Given the description of an element on the screen output the (x, y) to click on. 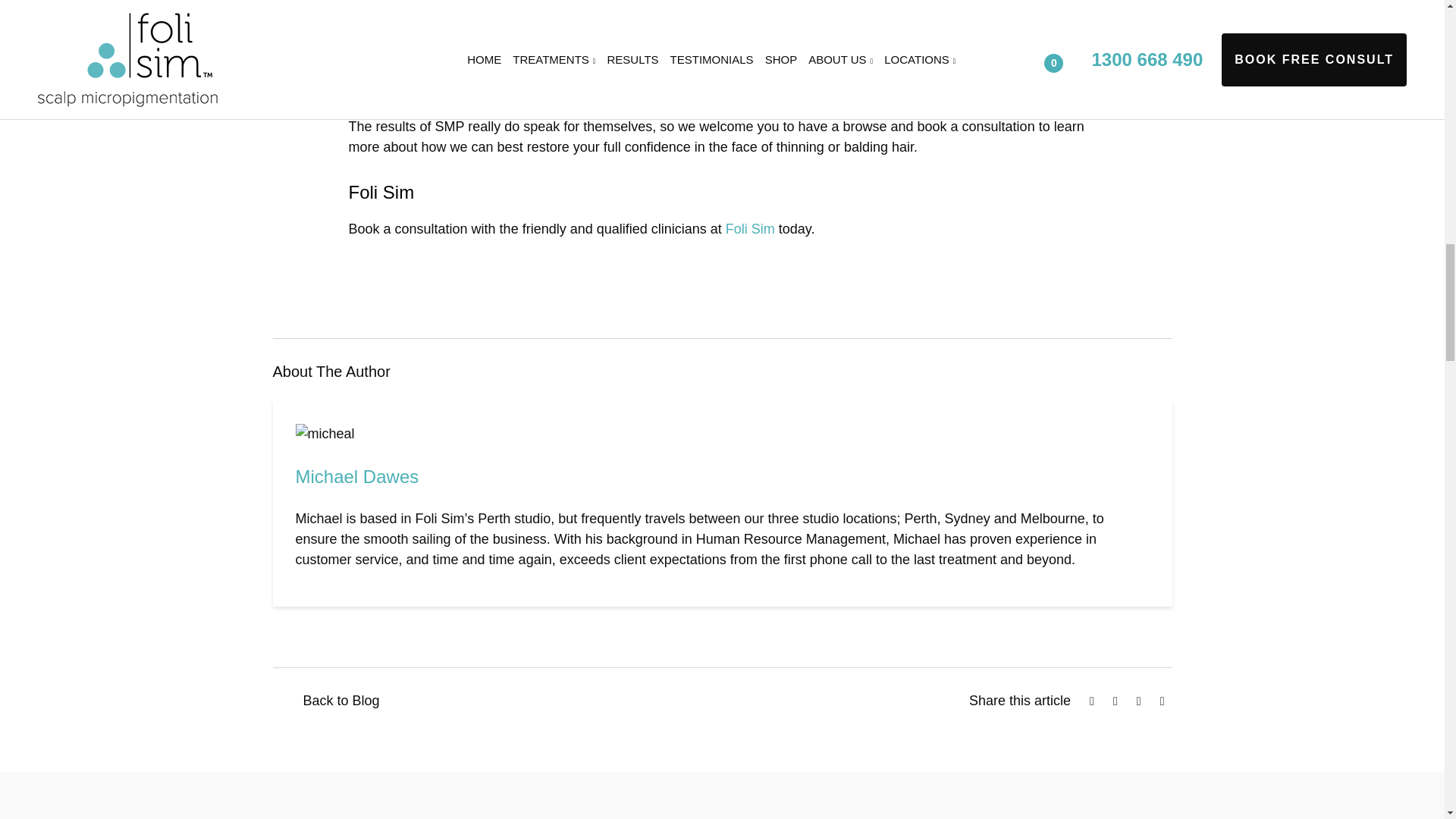
Foli Sim (749, 228)
Back to Blog (326, 701)
Michael Dawes (357, 476)
